Given the description of an element on the screen output the (x, y) to click on. 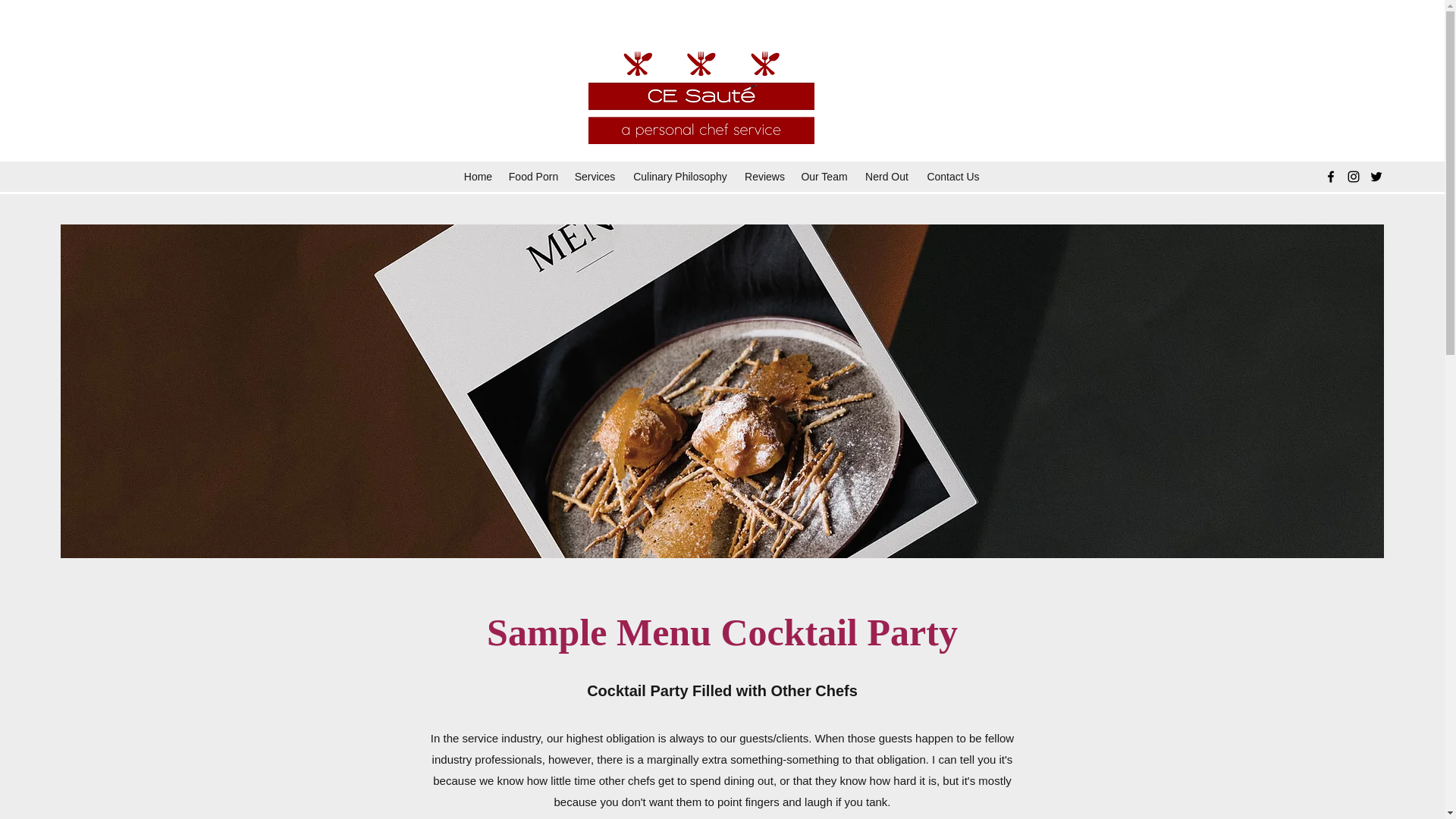
Food Porn (533, 176)
Services (594, 176)
Home (477, 176)
Culinary Philosophy (679, 176)
Our Team (824, 176)
Nerd Out (886, 176)
Reviews (764, 176)
Contact Us (952, 176)
